Given the description of an element on the screen output the (x, y) to click on. 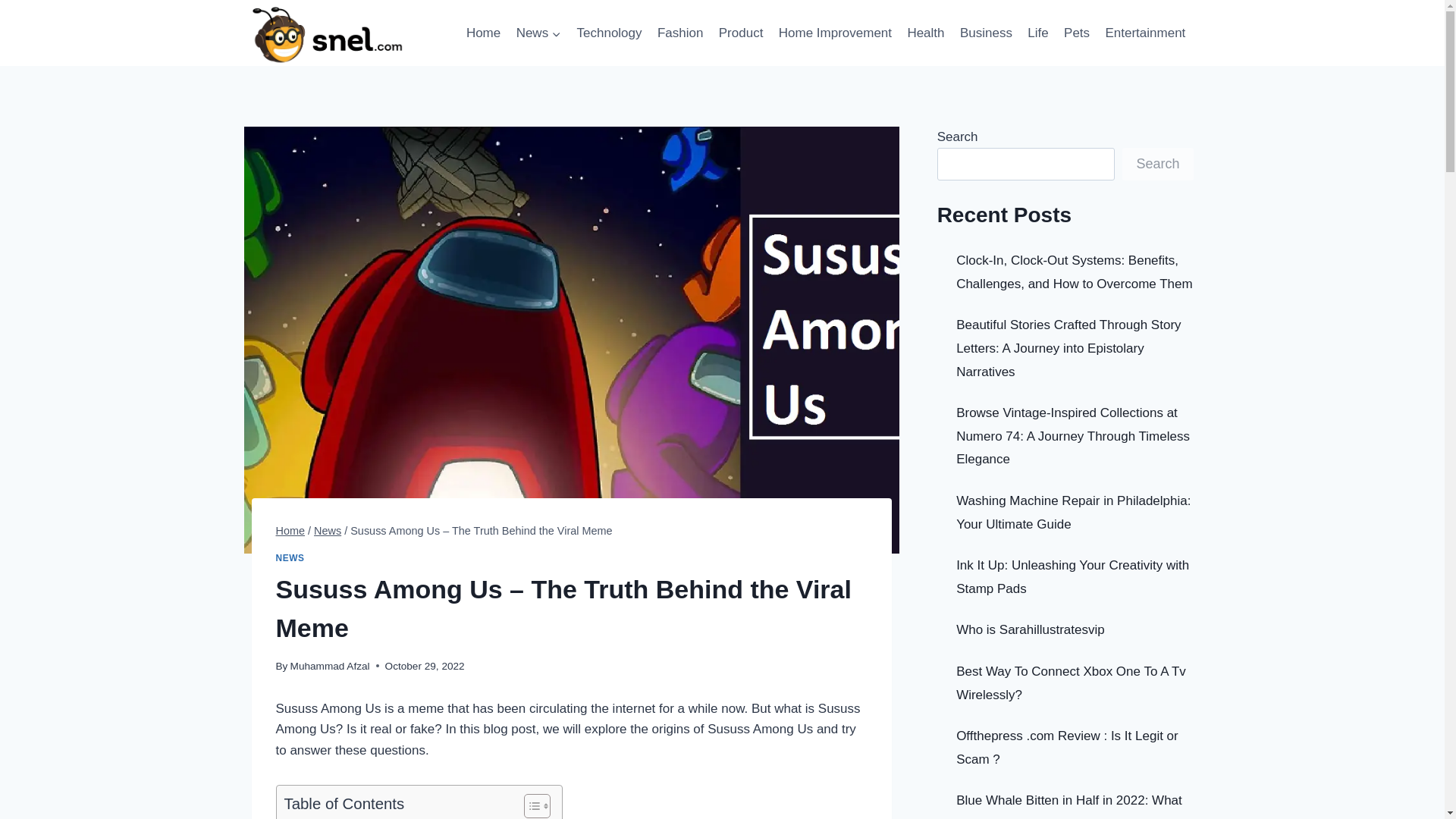
Muhammad Afzal (329, 665)
Life (1038, 33)
Fashion (680, 33)
Entertainment (1144, 33)
Health (925, 33)
News (538, 33)
Home (290, 530)
Home (483, 33)
News (327, 530)
Business (986, 33)
Product (741, 33)
NEWS (290, 557)
Home Improvement (835, 33)
Pets (1077, 33)
Technology (609, 33)
